Given the description of an element on the screen output the (x, y) to click on. 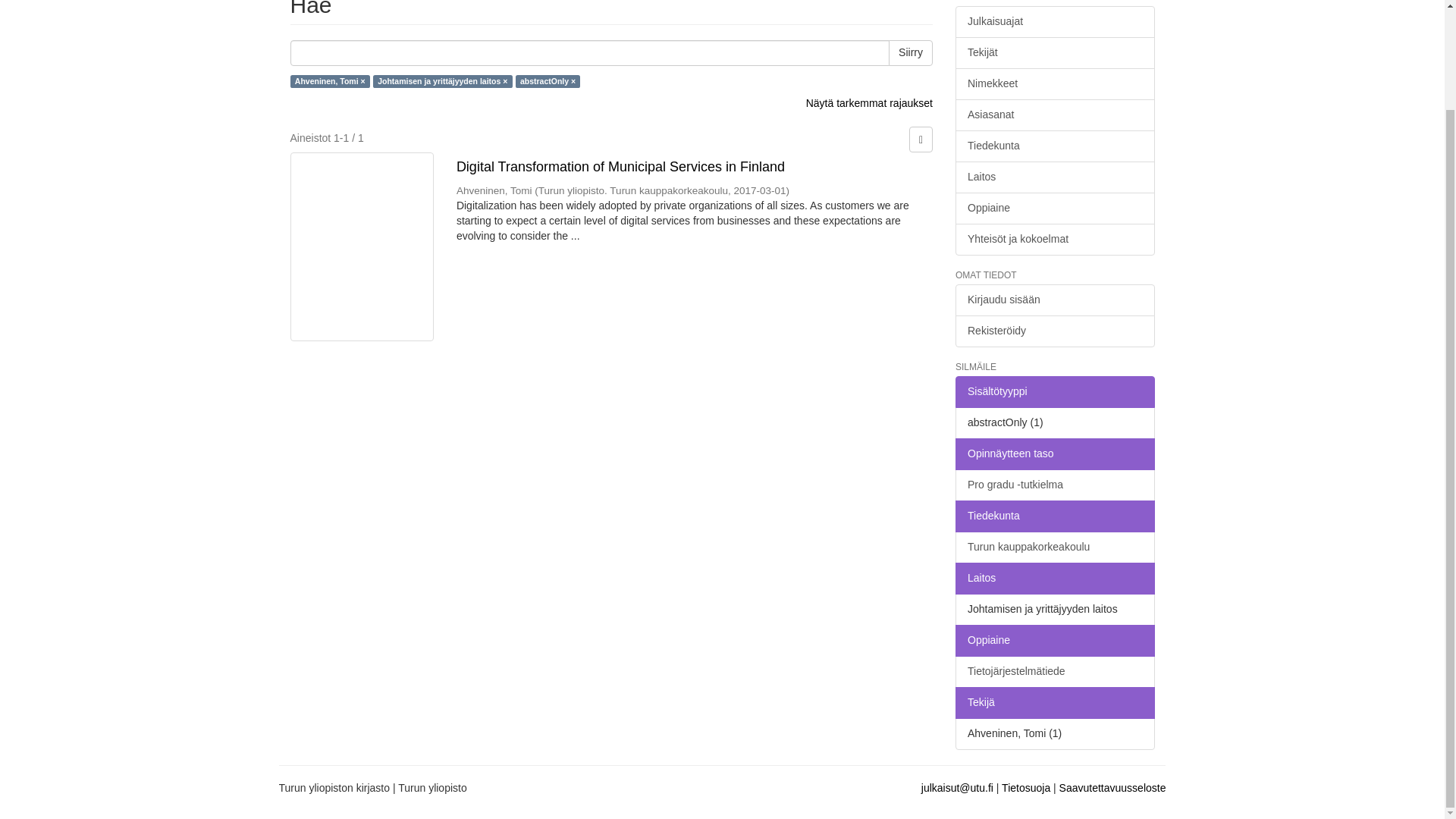
Siirry (910, 53)
